Given the description of an element on the screen output the (x, y) to click on. 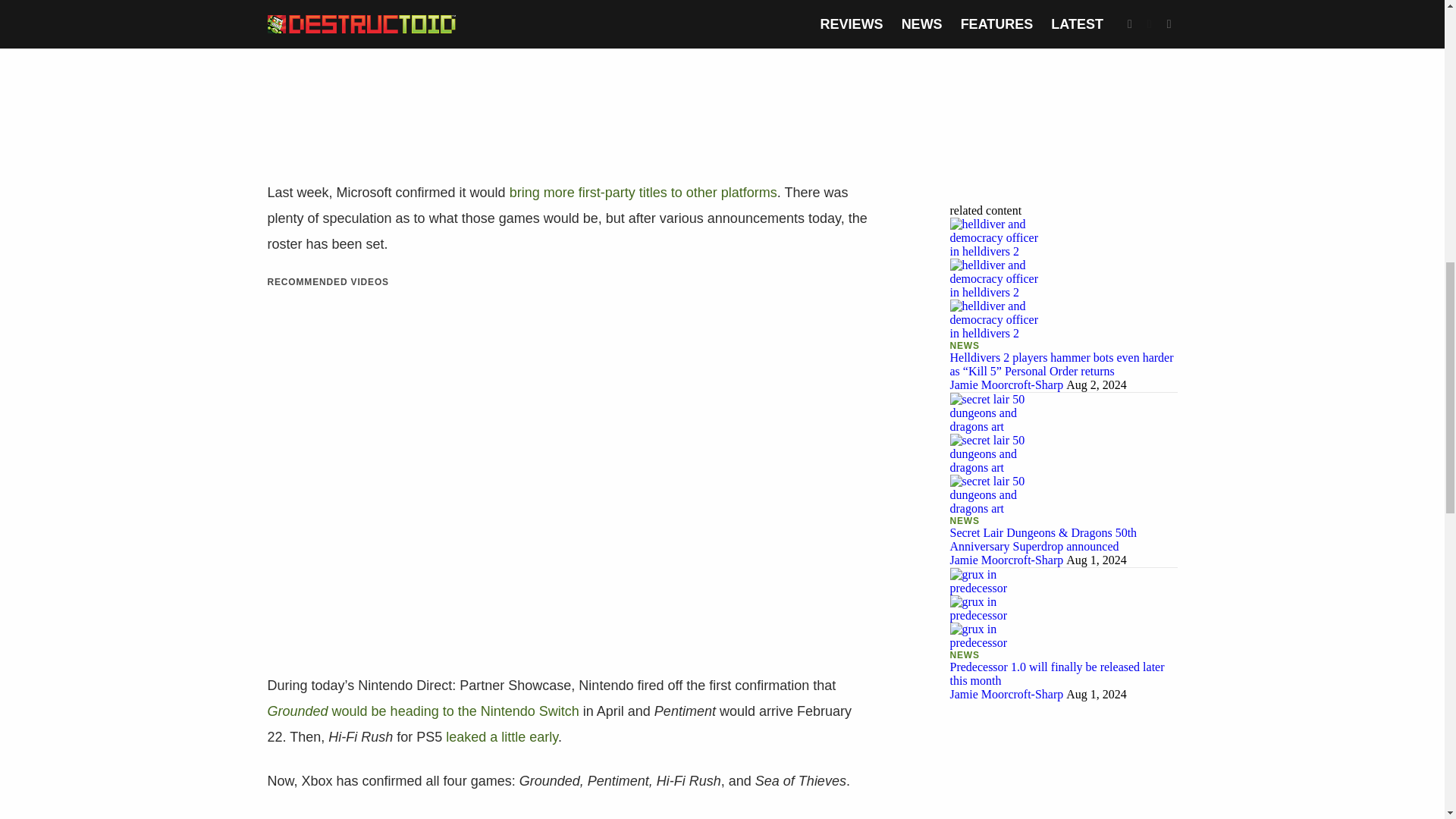
bring more first-party titles to other platforms (643, 192)
